Given the description of an element on the screen output the (x, y) to click on. 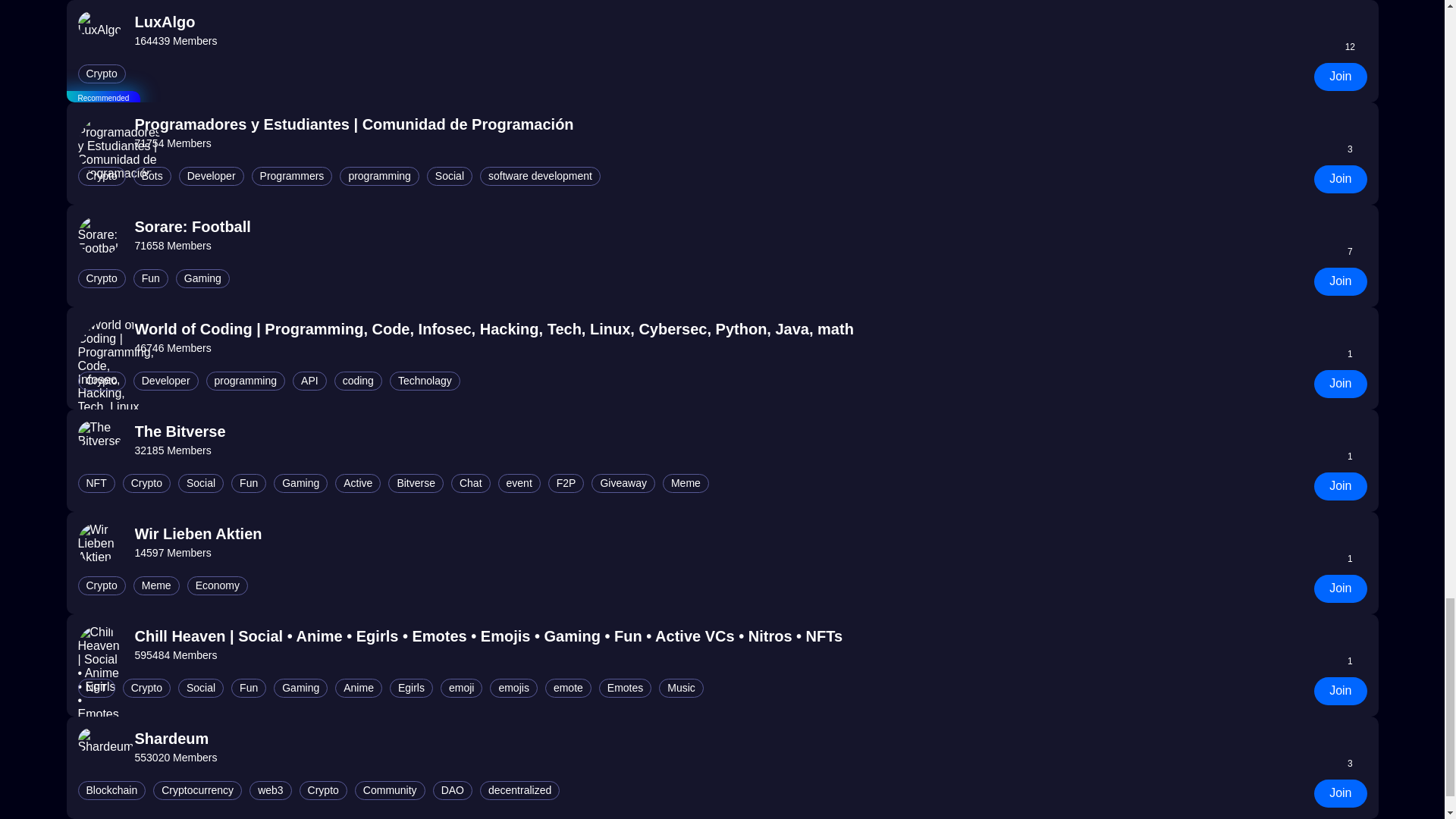
LuxAlgo (175, 22)
Crypto (101, 73)
Join (1340, 76)
